Given the description of an element on the screen output the (x, y) to click on. 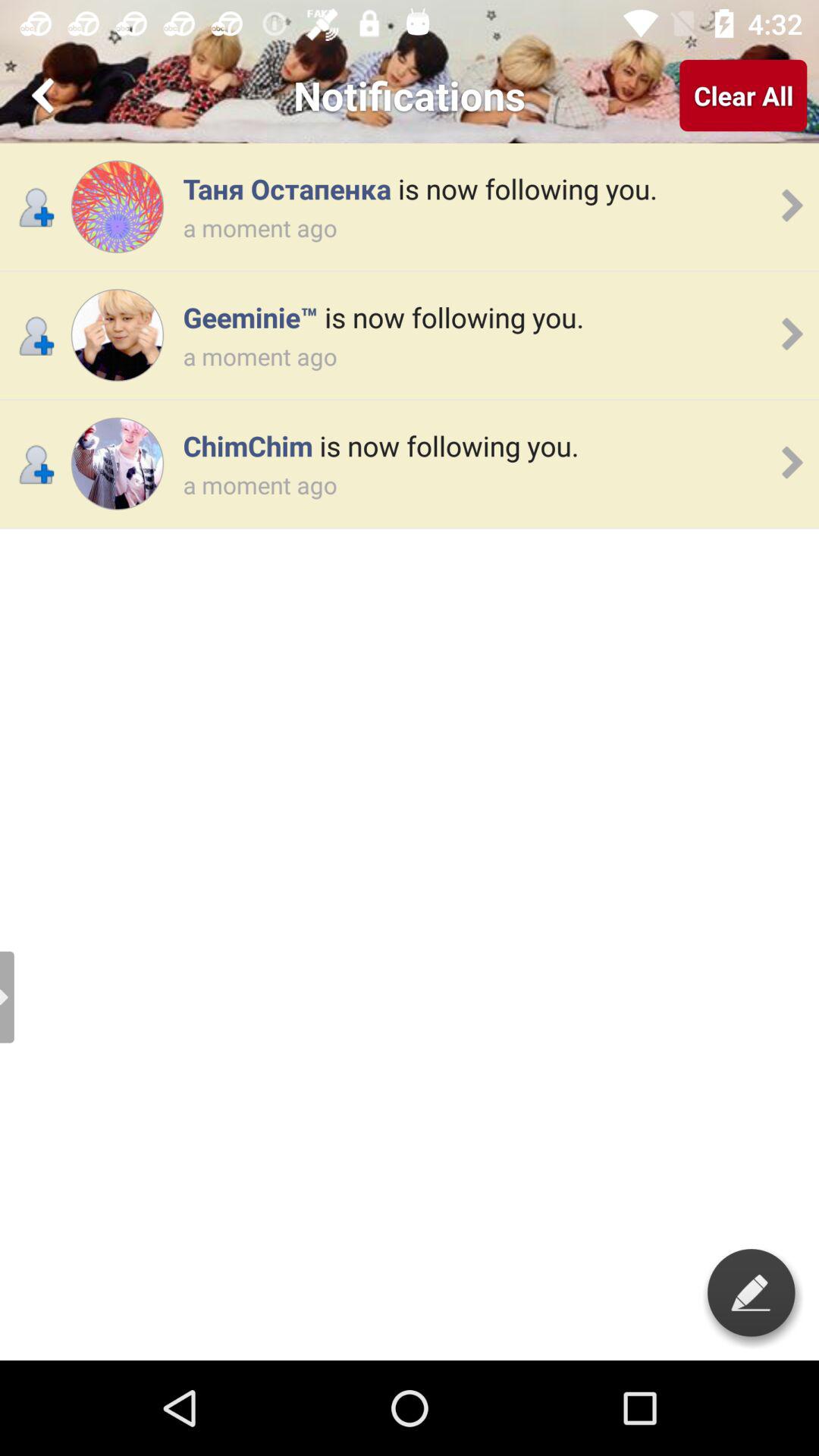
select a profile (117, 206)
